Given the description of an element on the screen output the (x, y) to click on. 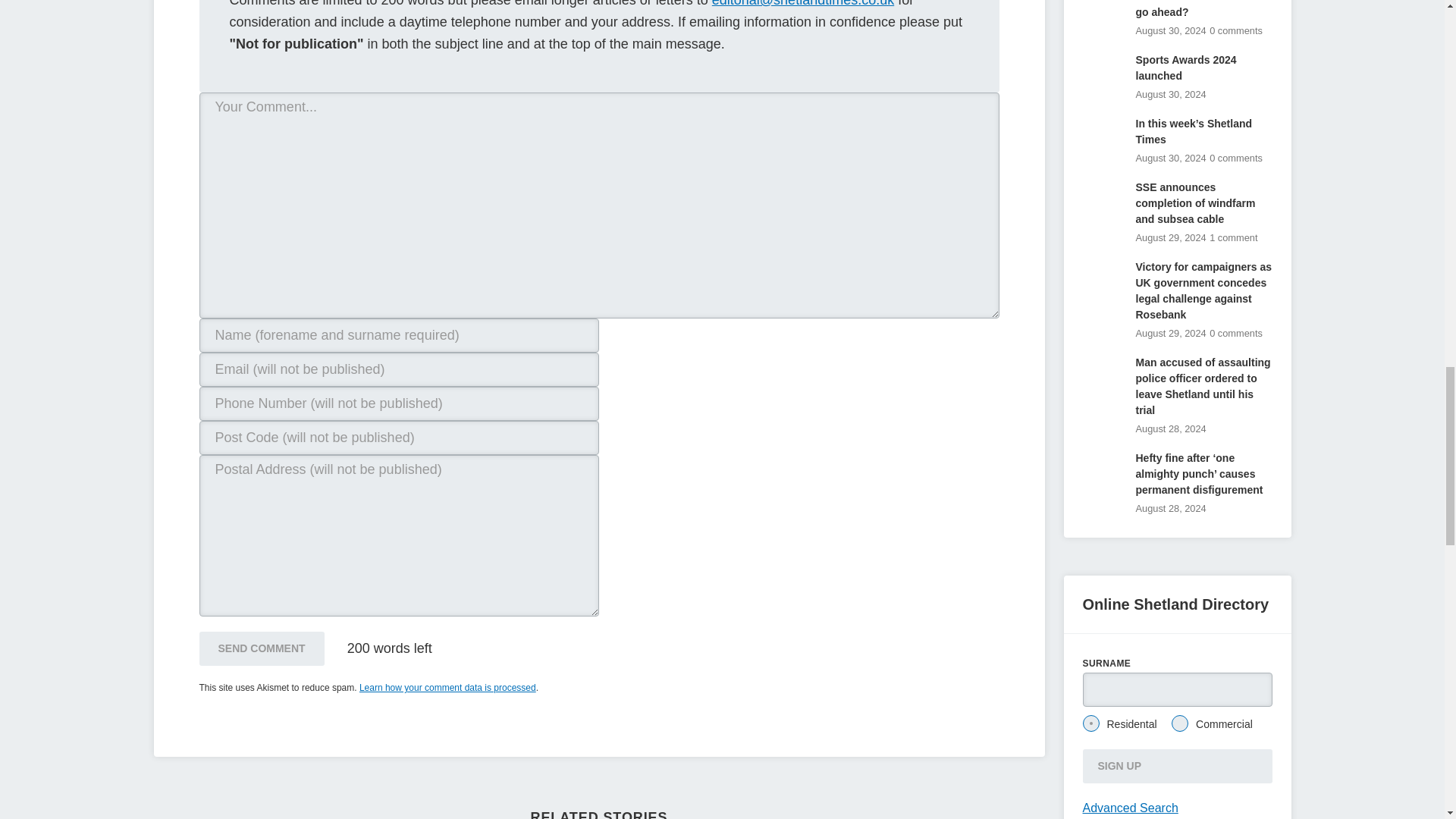
commercial (1180, 723)
SEND COMMENT (260, 648)
Learn how your comment data is processed (447, 687)
residential (1091, 723)
